Given the description of an element on the screen output the (x, y) to click on. 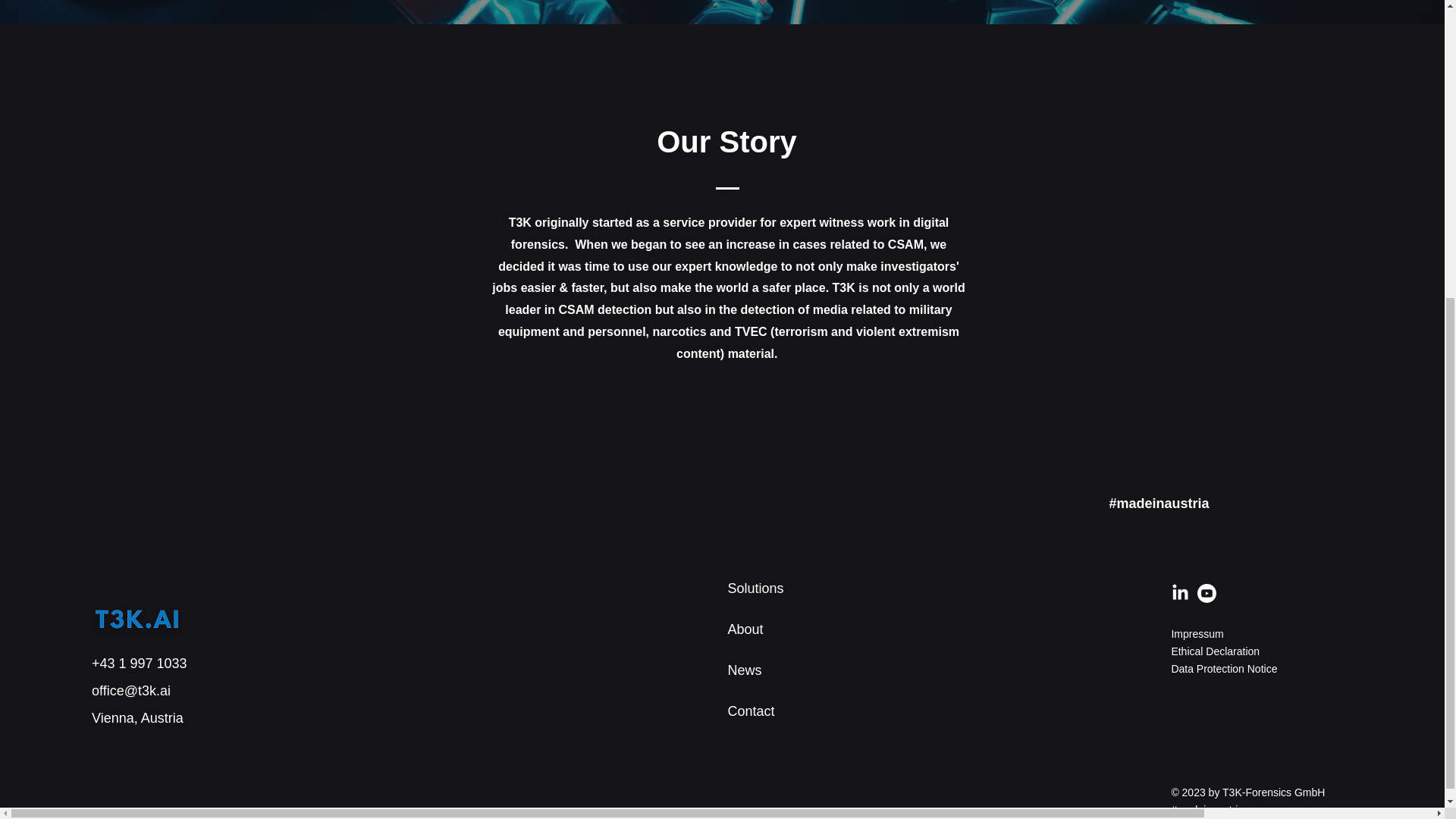
About (745, 629)
News (744, 670)
Solutions (756, 588)
